Given the description of an element on the screen output the (x, y) to click on. 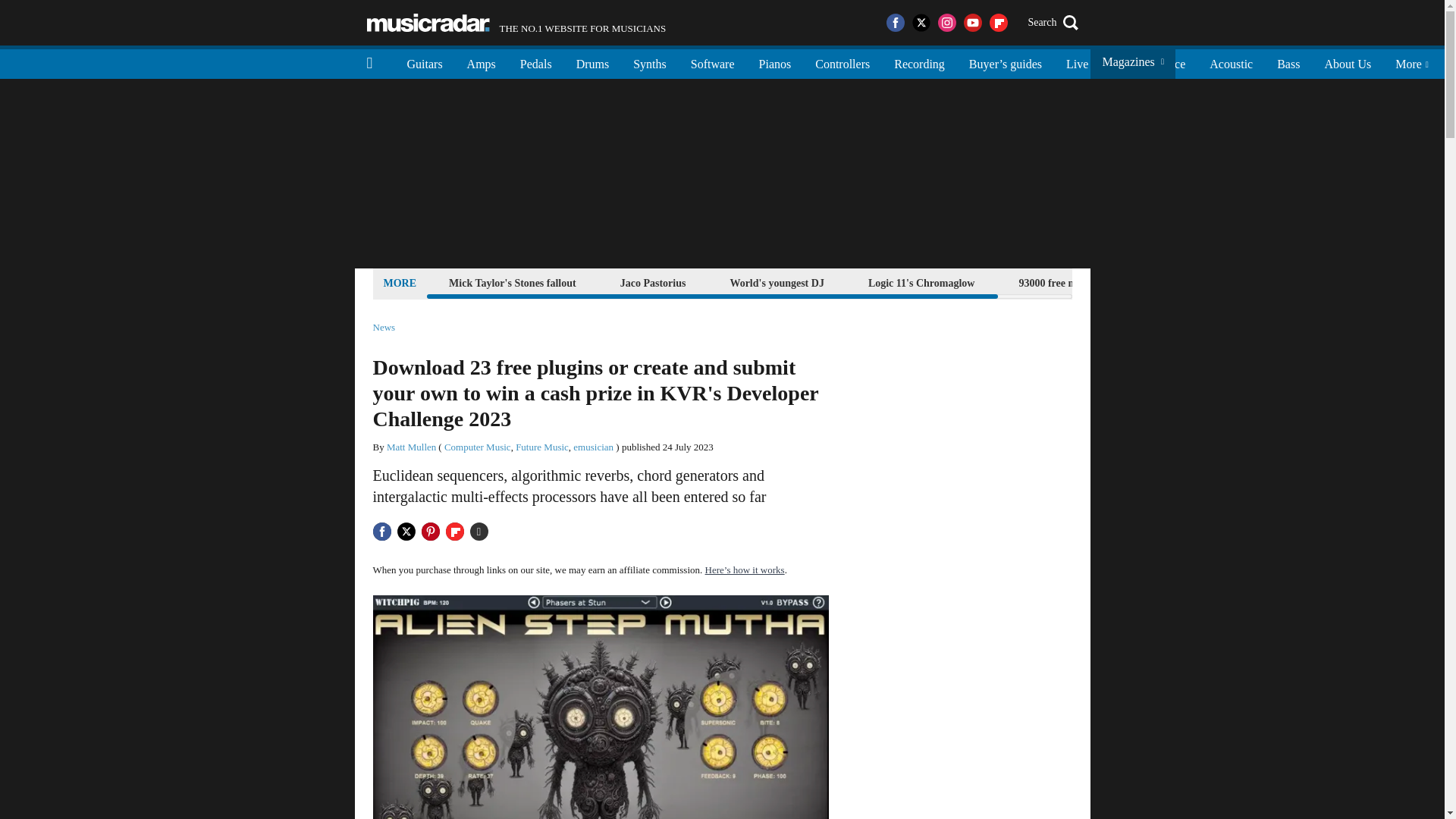
Pianos (774, 61)
Bass (1288, 61)
Recording (919, 61)
World's youngest DJ (775, 282)
Amps (516, 22)
Live (481, 61)
Controllers (1077, 61)
Mick Taylor's Stones fallout (842, 61)
DJ (512, 282)
Music Radar (1119, 61)
Logic 11's Chromaglow (427, 22)
Software (921, 282)
Advice (712, 61)
Synths (1167, 61)
